Given the description of an element on the screen output the (x, y) to click on. 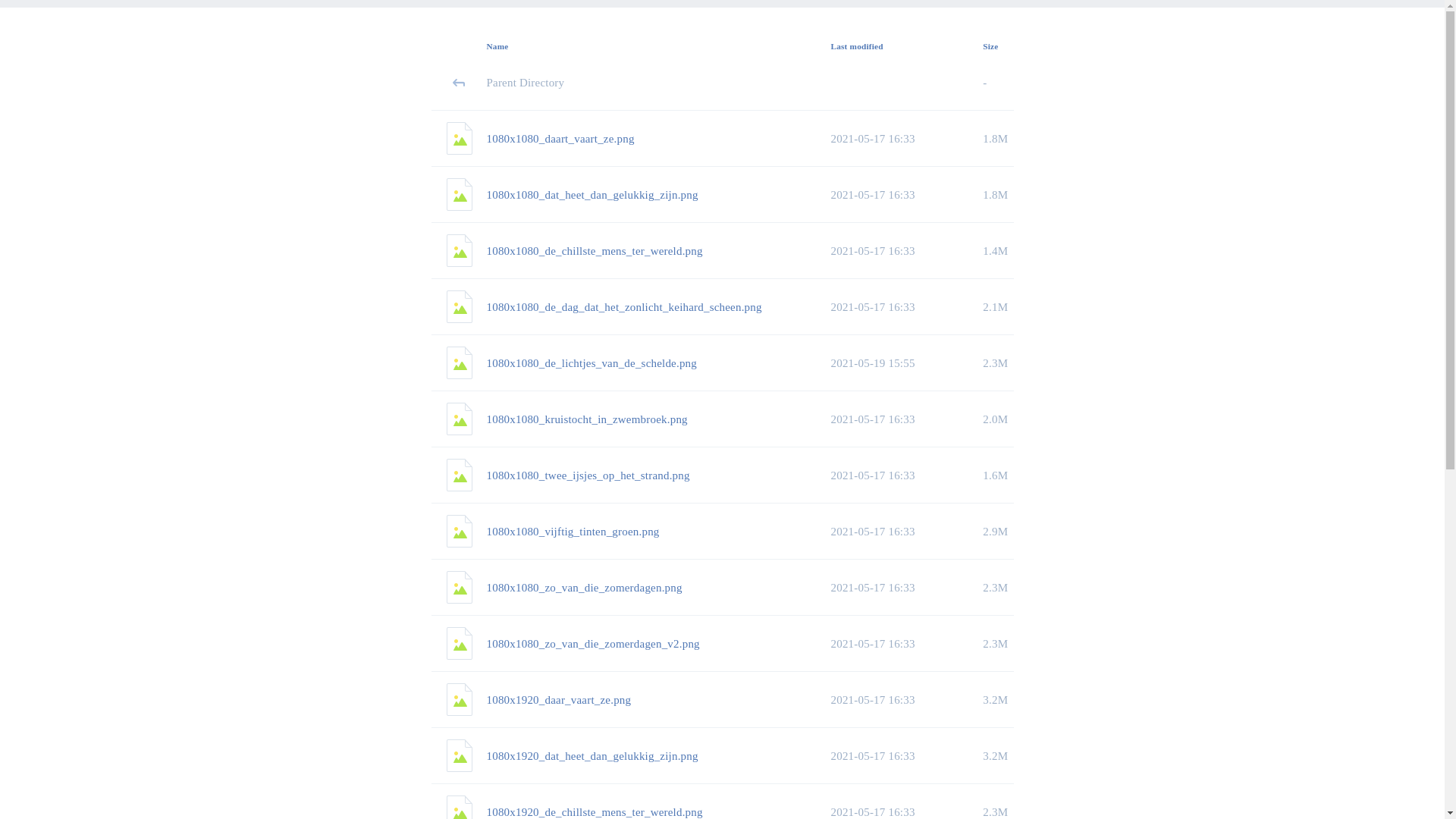
1080x1080_vijftig_tinten_groen.png Element type: text (658, 531)
Last modified Element type: text (857, 45)
1080x1080_kruistocht_in_zwembroek.png Element type: text (658, 419)
1080x1080_zo_van_die_zomerdagen.png Element type: text (658, 587)
1080x1920_daar_vaart_ze.png Element type: text (658, 699)
Size Element type: text (989, 45)
1080x1080_de_lichtjes_van_de_schelde.png Element type: text (658, 362)
Parent Directory Element type: text (658, 82)
1080x1080_dat_heet_dan_gelukkig_zijn.png Element type: text (658, 194)
1080x1080_zo_van_die_zomerdagen_v2.png Element type: text (658, 643)
1080x1920_dat_heet_dan_gelukkig_zijn.png Element type: text (658, 755)
Name Element type: text (497, 45)
1080x1080_de_dag_dat_het_zonlicht_keihard_scheen.png Element type: text (658, 306)
1080x1080_twee_ijsjes_op_het_strand.png Element type: text (658, 475)
1080x1080_daart_vaart_ze.png Element type: text (658, 138)
1080x1080_de_chillste_mens_ter_wereld.png Element type: text (658, 250)
